Given the description of an element on the screen output the (x, y) to click on. 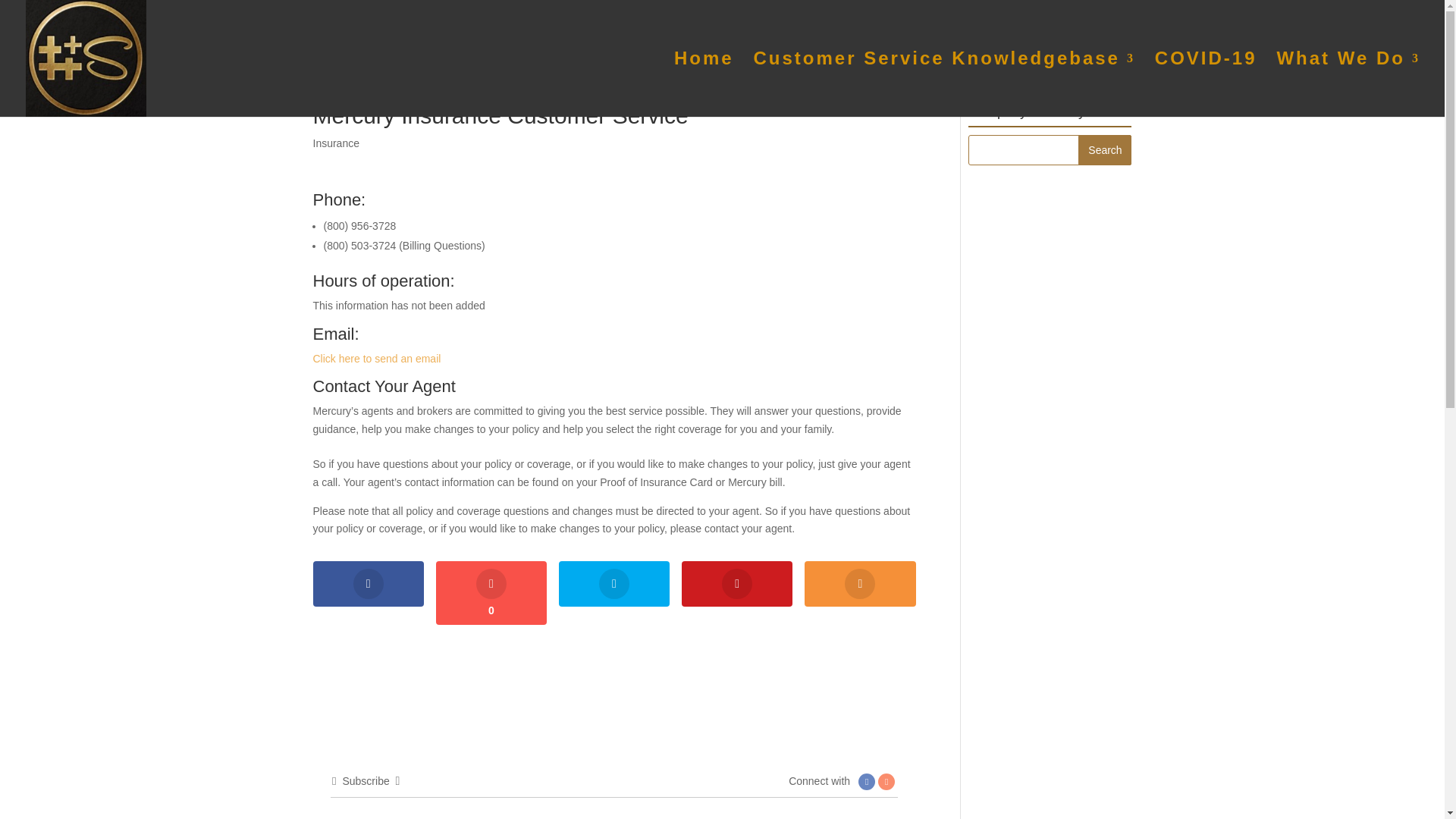
0 (491, 592)
Search (1104, 150)
Click here to send an email (377, 358)
COVID-19 (1205, 85)
Home (703, 85)
Customer Service Knowledgebase (944, 85)
Insurance (335, 143)
What We Do (1348, 85)
